Given the description of an element on the screen output the (x, y) to click on. 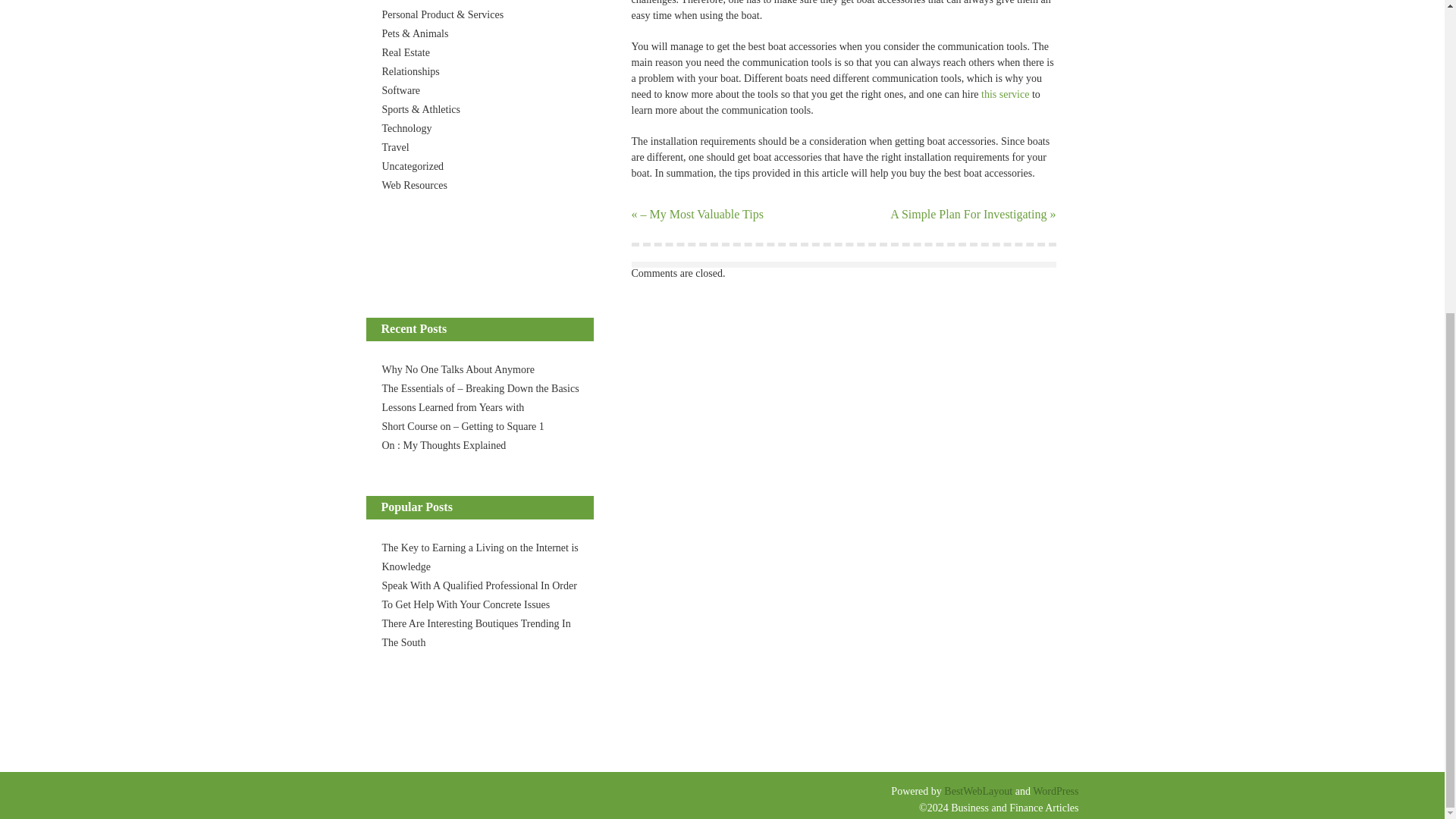
Relationships (410, 71)
Uncategorized (412, 165)
Software (400, 90)
Lessons Learned from Years with (452, 407)
There Are Interesting Boutiques Trending In The South (475, 633)
The Key to Earning a Living on the Internet is Knowledge (479, 557)
On : My Thoughts Explained (443, 445)
Travel (395, 147)
Real Estate (405, 52)
